Given the description of an element on the screen output the (x, y) to click on. 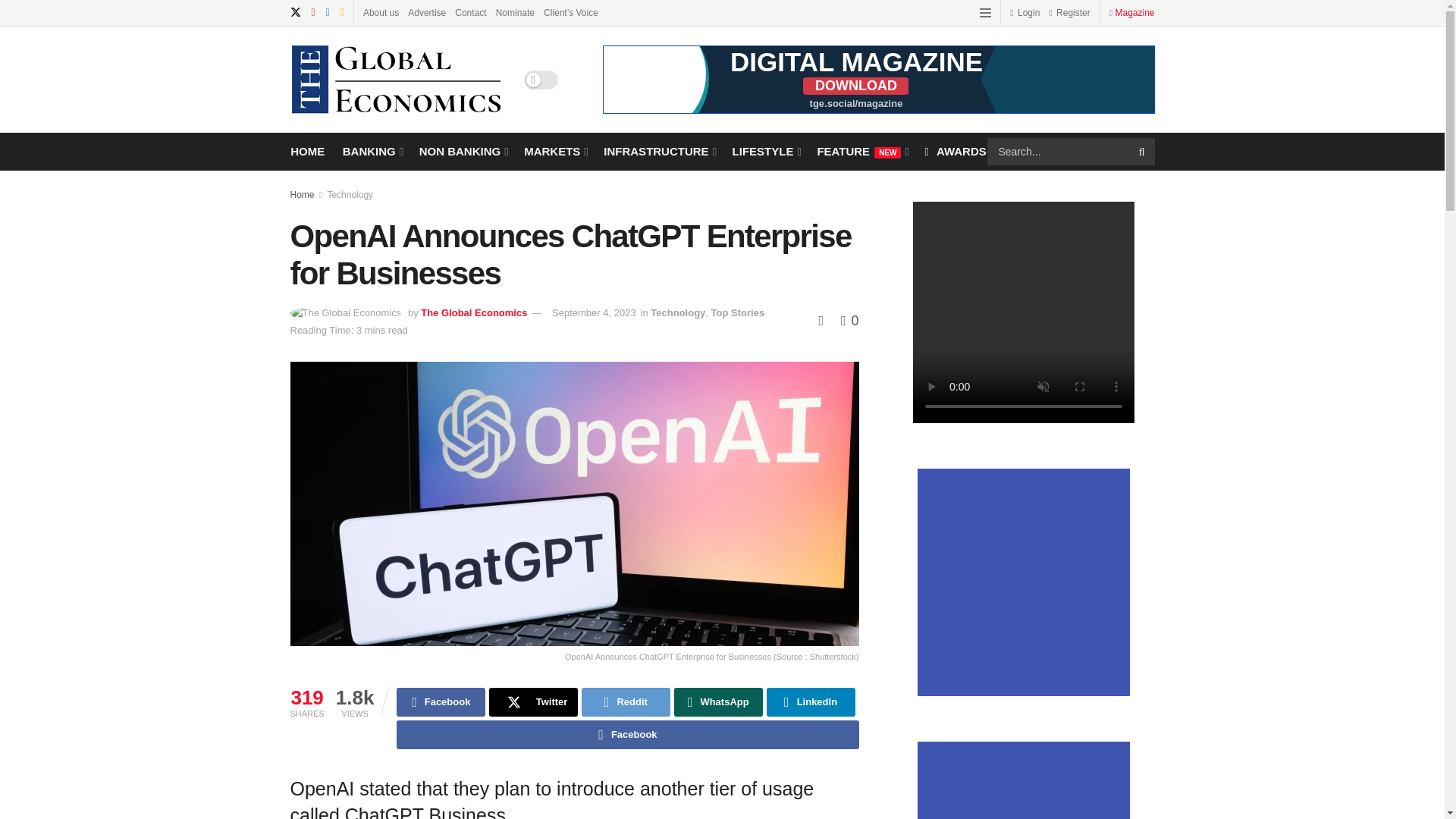
AWARDS (954, 151)
HOME (306, 151)
Technology (349, 194)
Home (301, 194)
Contact (470, 12)
Nominate (515, 12)
FEATURENEW (861, 151)
Login (1024, 12)
MARKETS (555, 151)
LIFESTYLE (765, 151)
